Given the description of an element on the screen output the (x, y) to click on. 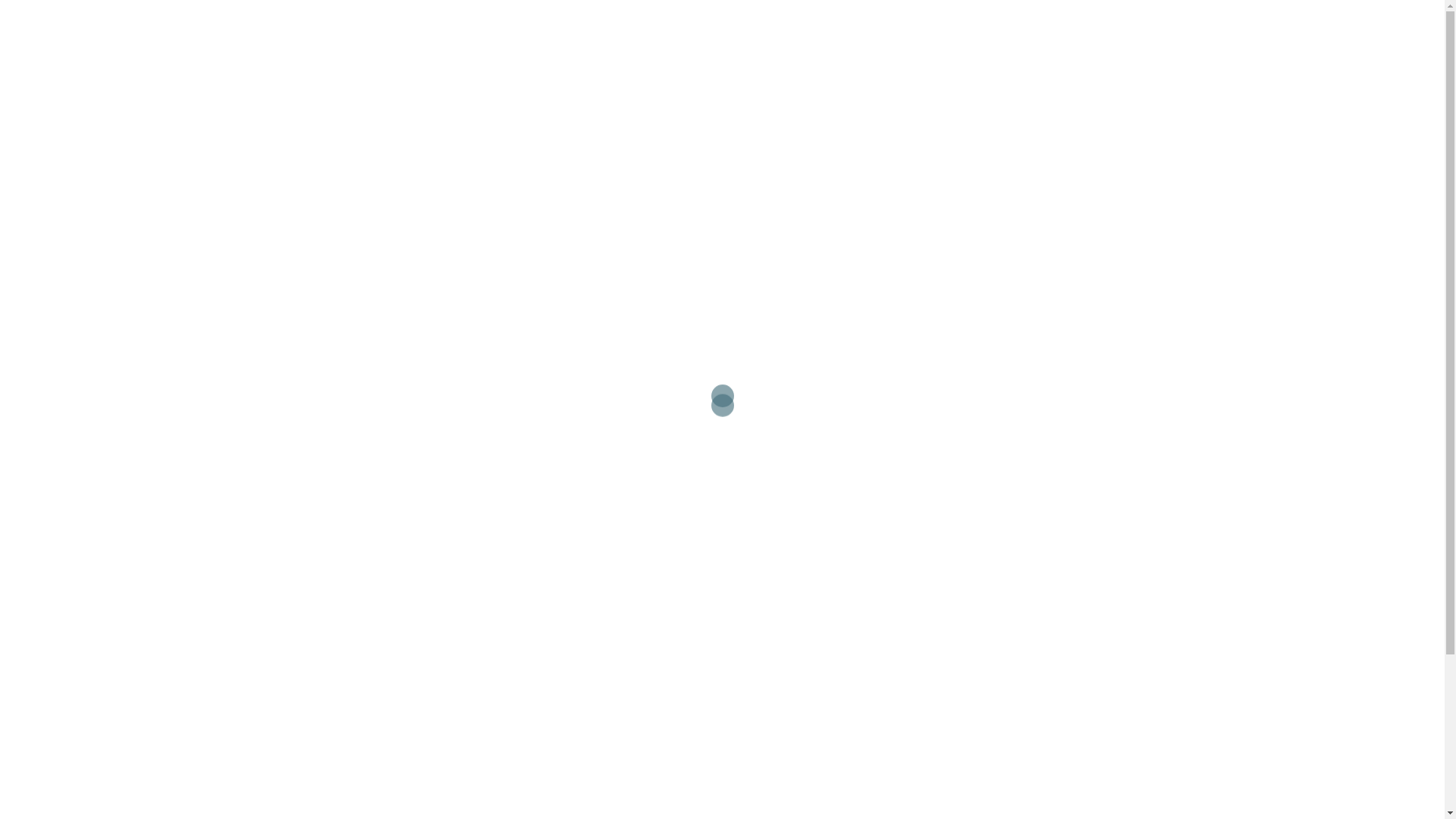
25 octobre 2019 Element type: text (365, 481)
work Element type: text (574, 481)
Leave a comment Element type: text (461, 481)
How it all began Element type: text (384, 450)
Contact Element type: text (977, 27)
Cycles Element type: text (1042, 27)
How it all began Element type: hover (702, 239)
CYCLESCYD Element type: hover (331, 27)
Facebook Element type: text (1114, 27)
